Given the description of an element on the screen output the (x, y) to click on. 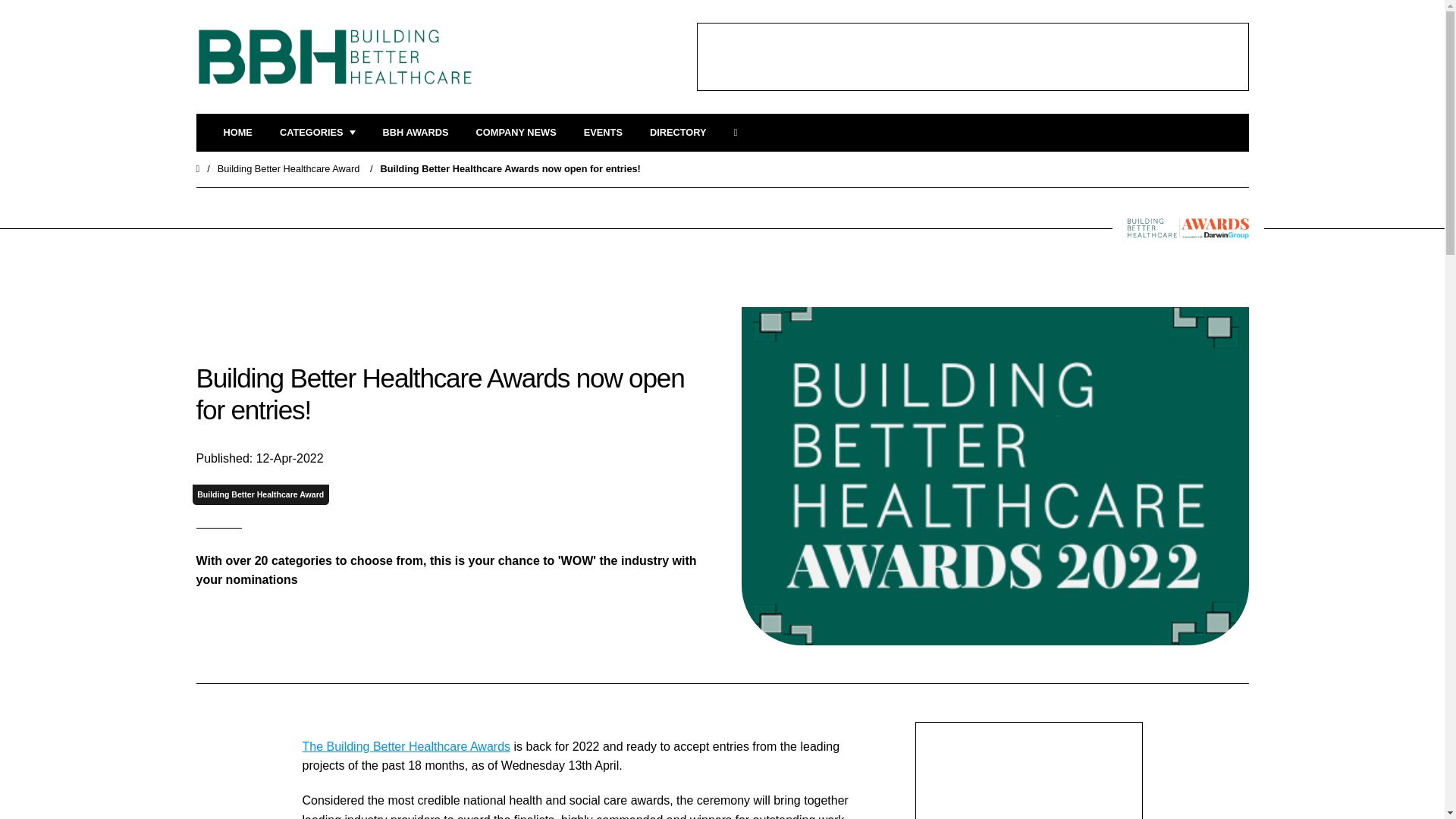
EVENTS (603, 133)
HOME (236, 133)
Directory (677, 133)
Building Better Healthcare Award (260, 494)
DIRECTORY (677, 133)
COMPANY NEWS (516, 133)
CATEGORIES (317, 133)
BBH AWARDS (415, 133)
Building Better Healthcare Awards (415, 133)
The Building Better Healthcare Awards (406, 746)
Building Better Healthcare Award (287, 168)
SEARCH (740, 133)
